Given the description of an element on the screen output the (x, y) to click on. 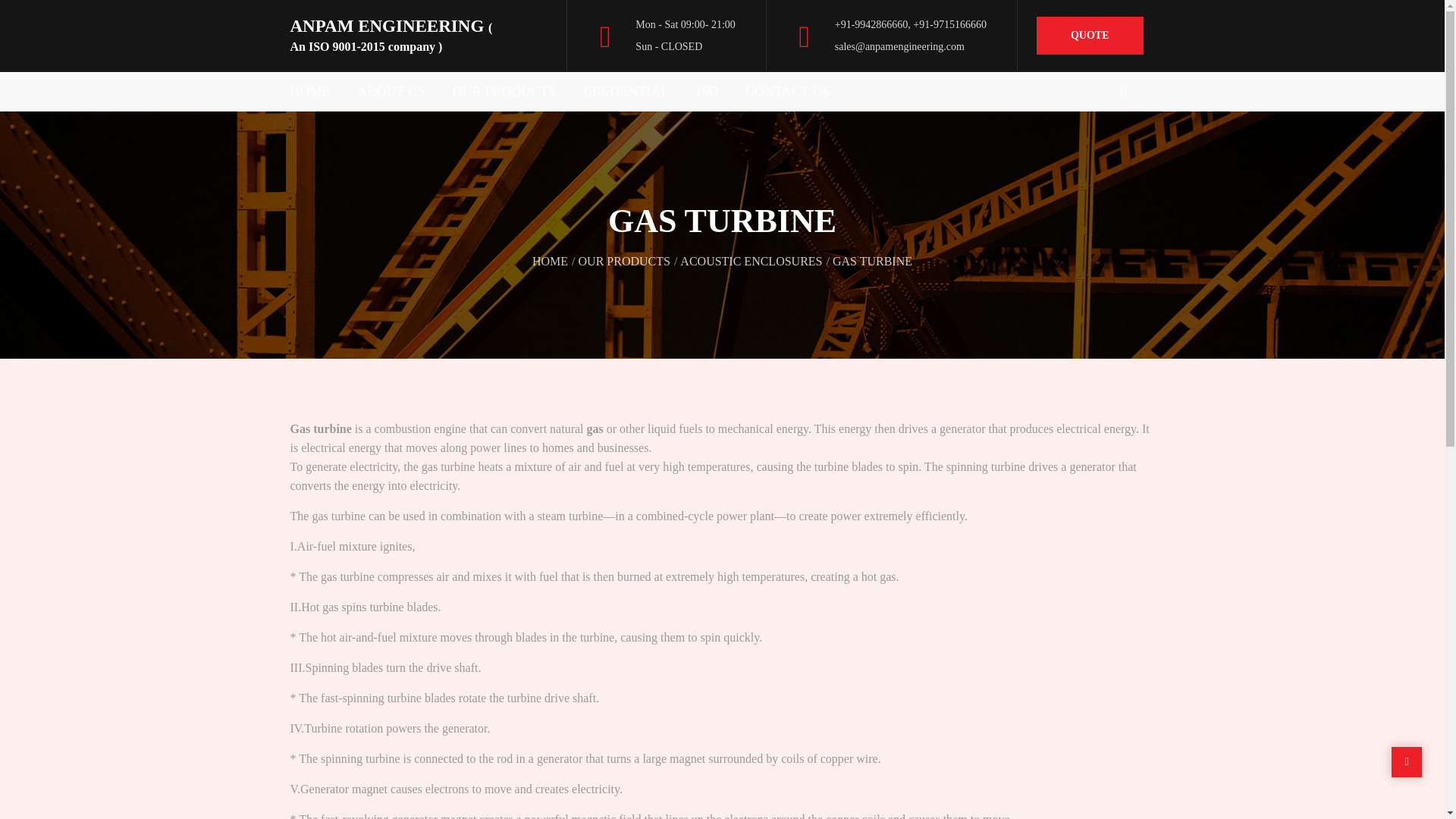
OUR PRODUCTS (504, 91)
ABOUT US (391, 91)
ANPAM ENGINEERING (390, 35)
QUOTE (1089, 35)
HOME (316, 91)
